Given the description of an element on the screen output the (x, y) to click on. 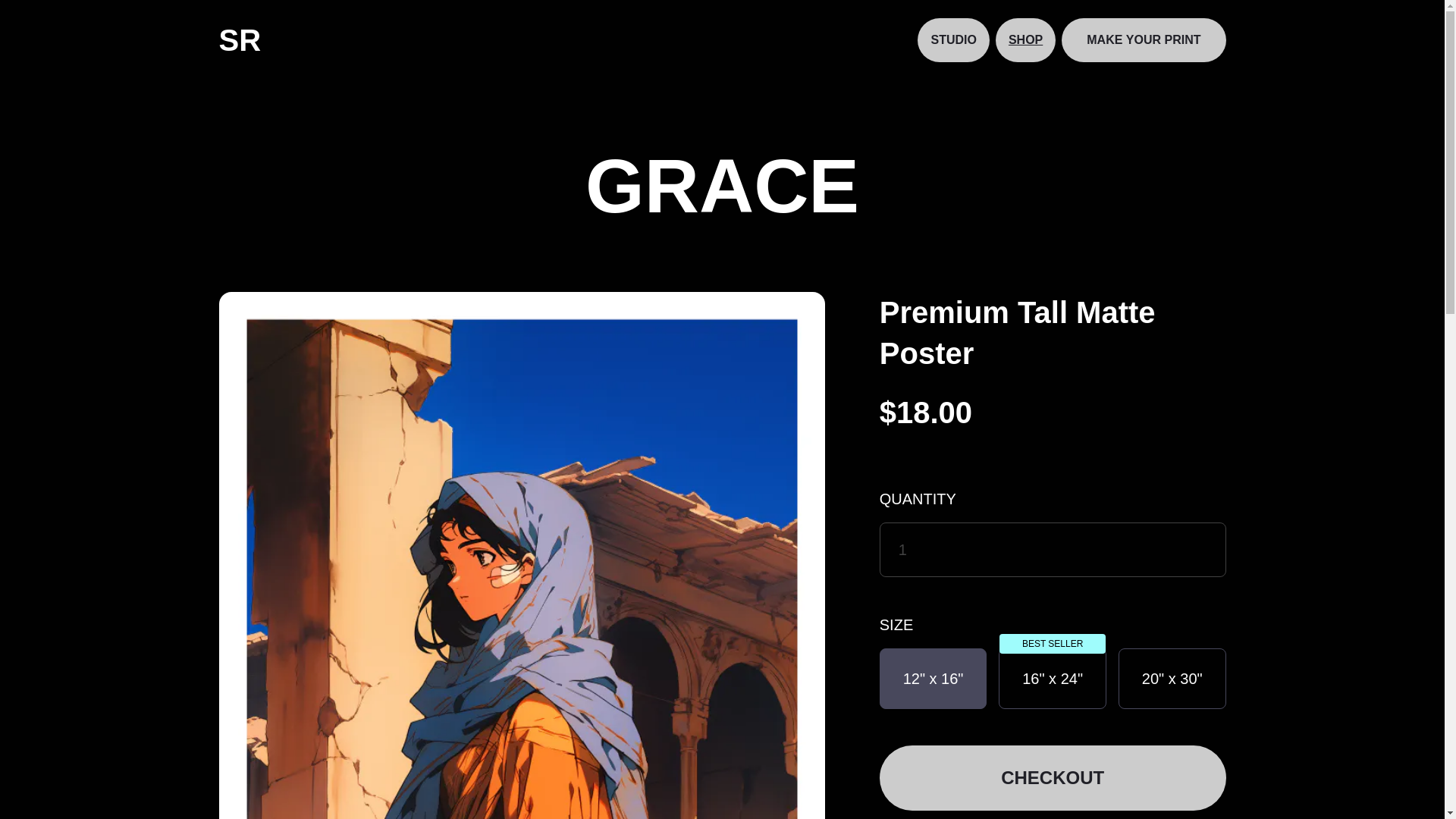
1 (1052, 549)
SR (239, 39)
SHOP (1025, 40)
MAKE YOUR PRINT (1143, 40)
CHECKOUT (1052, 777)
STUDIO (952, 40)
